Given the description of an element on the screen output the (x, y) to click on. 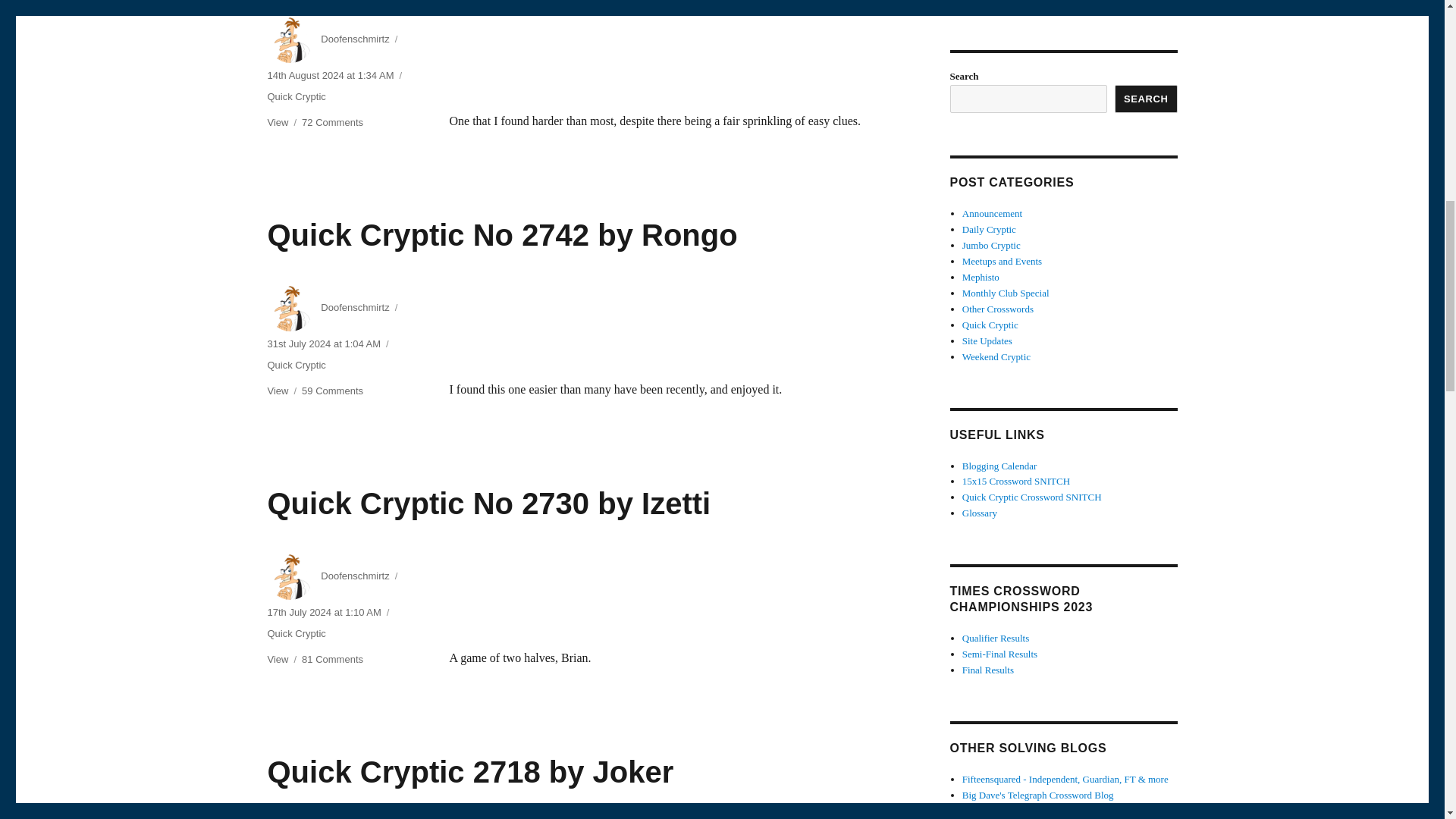
14th August 2024 at 1:34 AM (329, 75)
Doofenschmirtz (354, 307)
Doofenschmirtz (331, 122)
View (354, 39)
Quick Cryptic (277, 122)
Quick Cryptic (295, 633)
17th July 2024 at 1:10 AM (295, 96)
Quick Cryptic No 2742 by Rongo (331, 390)
